Given the description of an element on the screen output the (x, y) to click on. 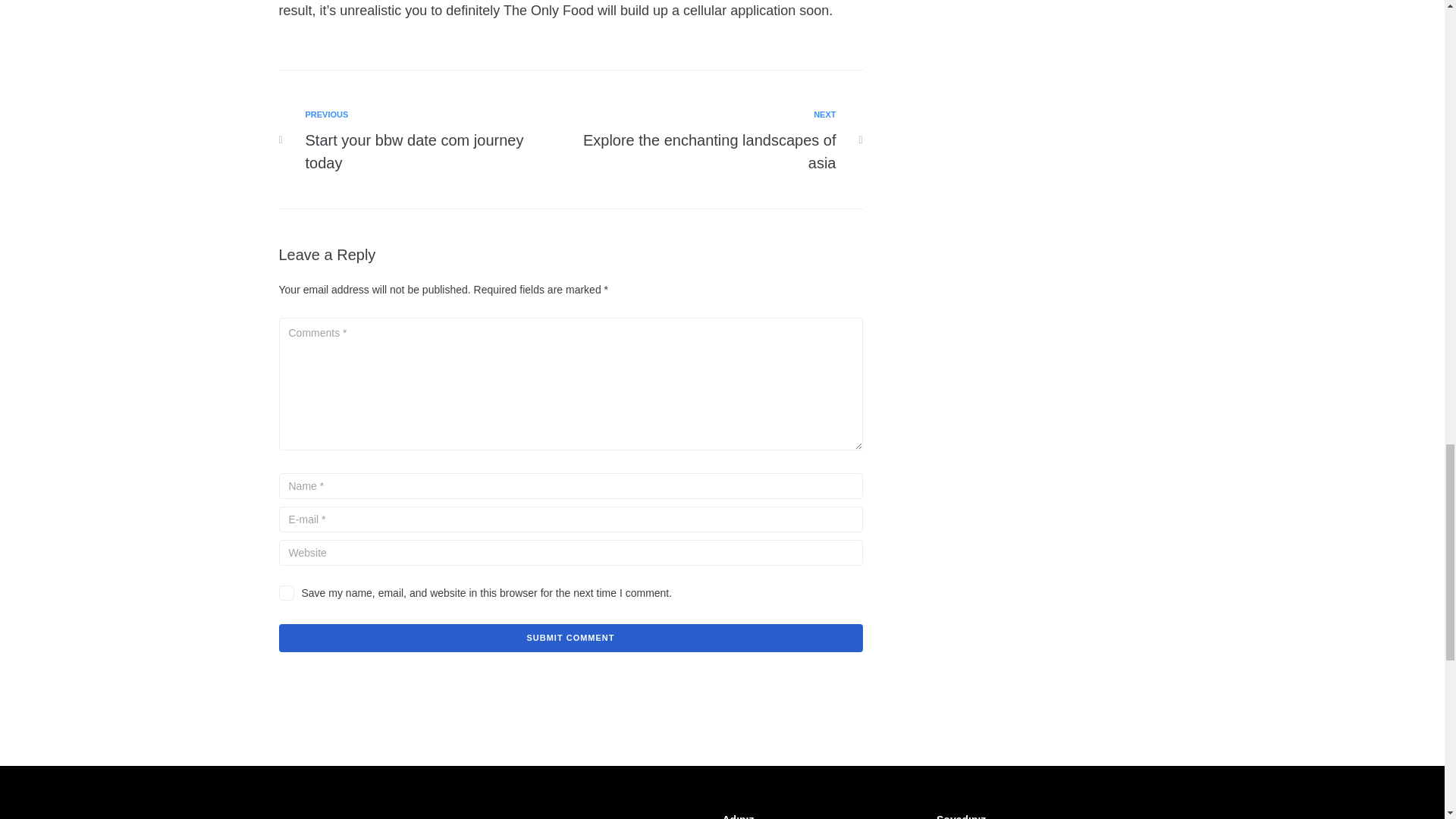
Submit Comment (708, 141)
Submit Comment (571, 637)
